Given the description of an element on the screen output the (x, y) to click on. 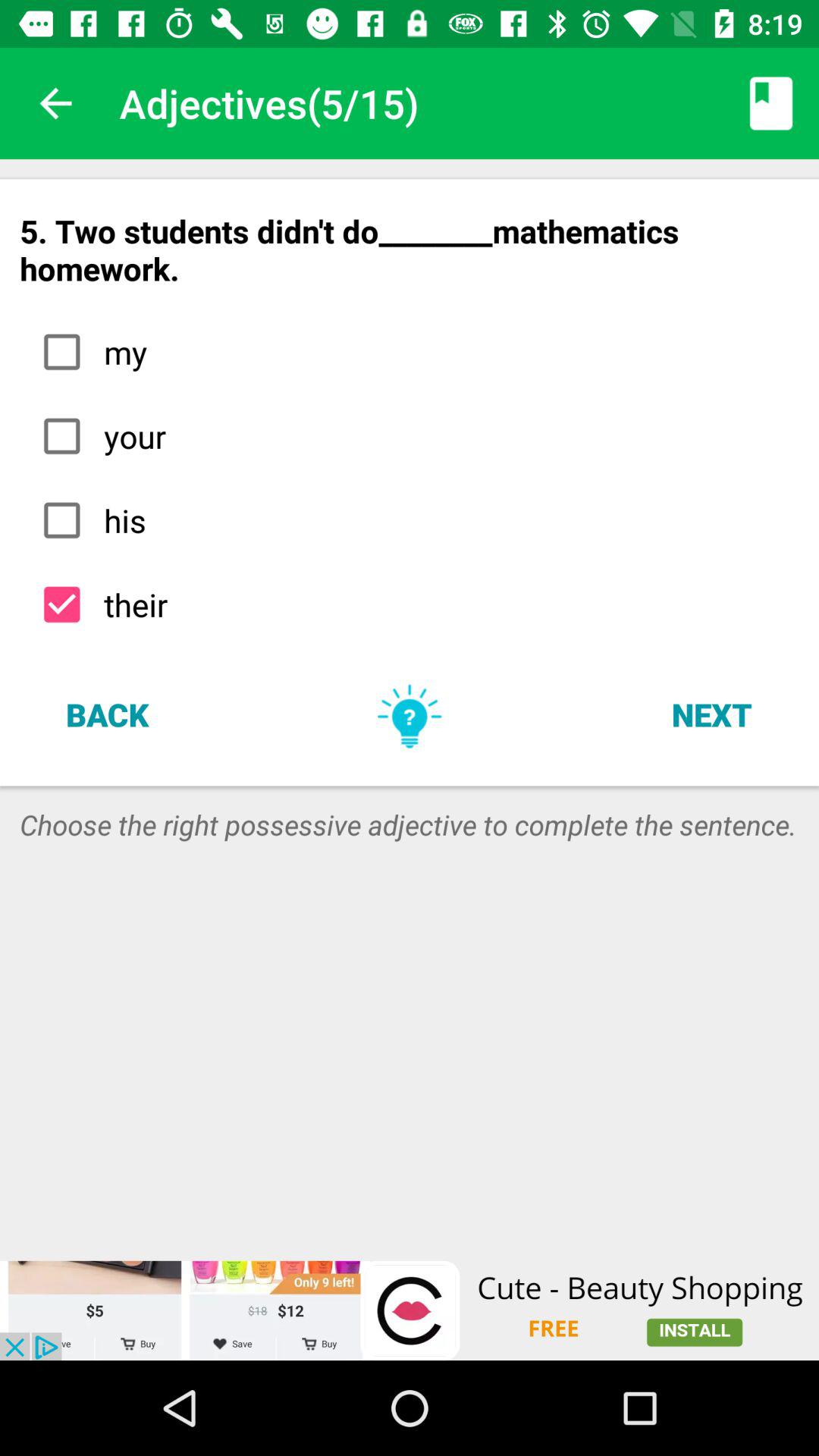
advertisement (409, 1310)
